Given the description of an element on the screen output the (x, y) to click on. 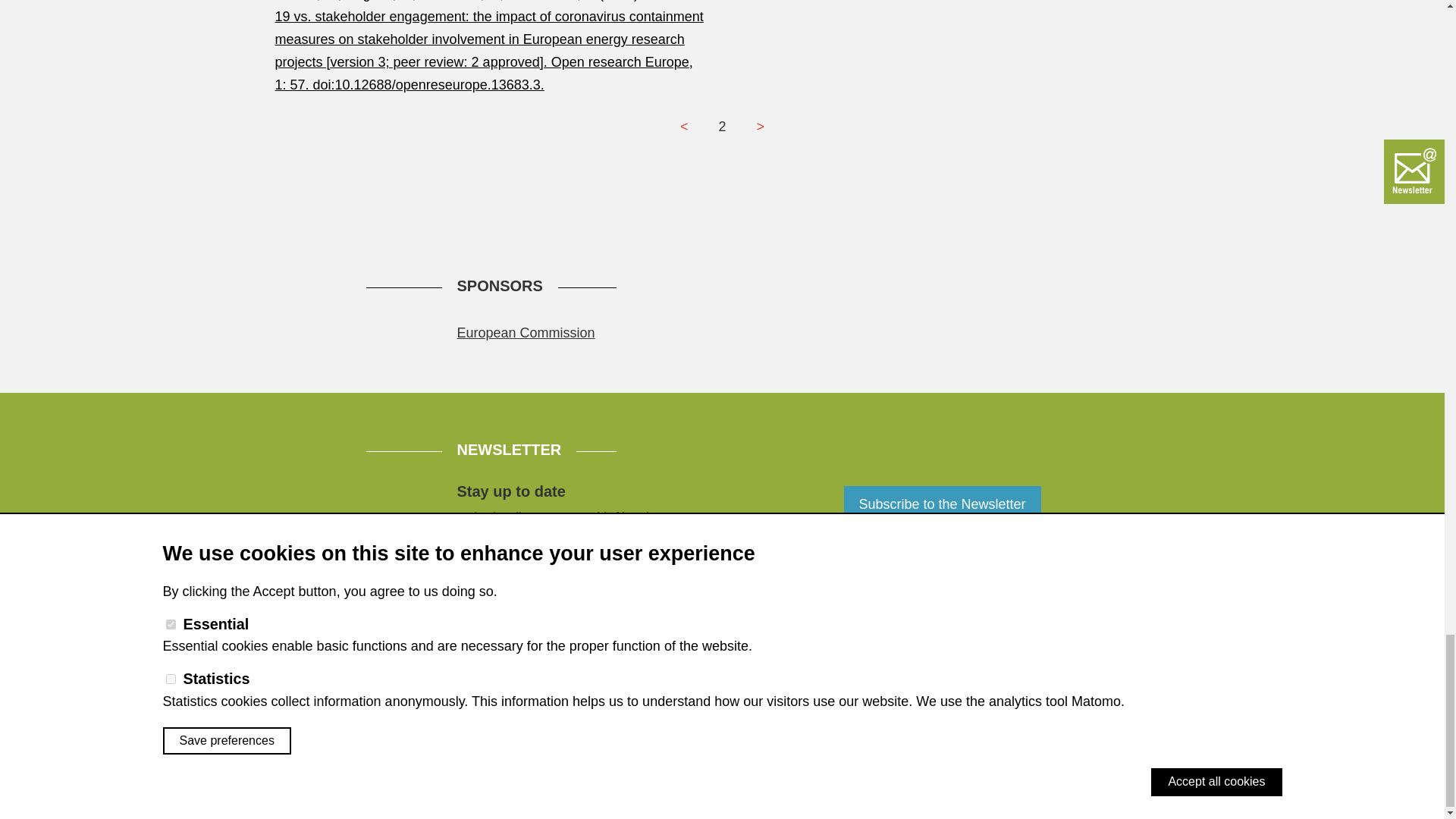
European Commission (525, 332)
